Given the description of an element on the screen output the (x, y) to click on. 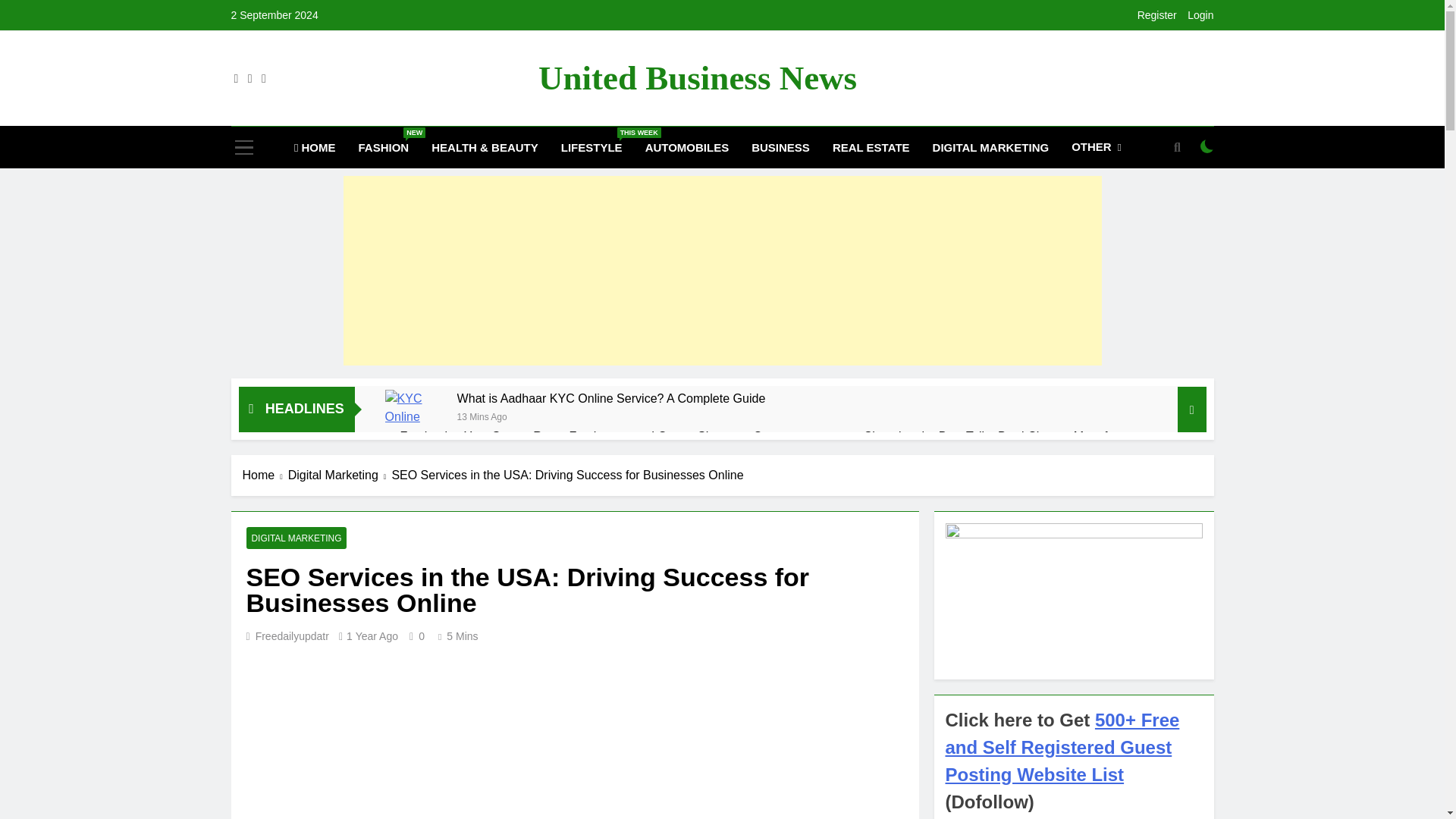
on (1206, 146)
United Business News (697, 77)
What is Aadhaar KYC Online Service? A Complete Guide (611, 398)
Login (1200, 15)
What is Aadhaar KYC Online Service? A Complete Guide (413, 408)
Register (1156, 15)
Choosing the Best Toilet Bowl Cleaner Manufacturer (1004, 436)
